Given the description of an element on the screen output the (x, y) to click on. 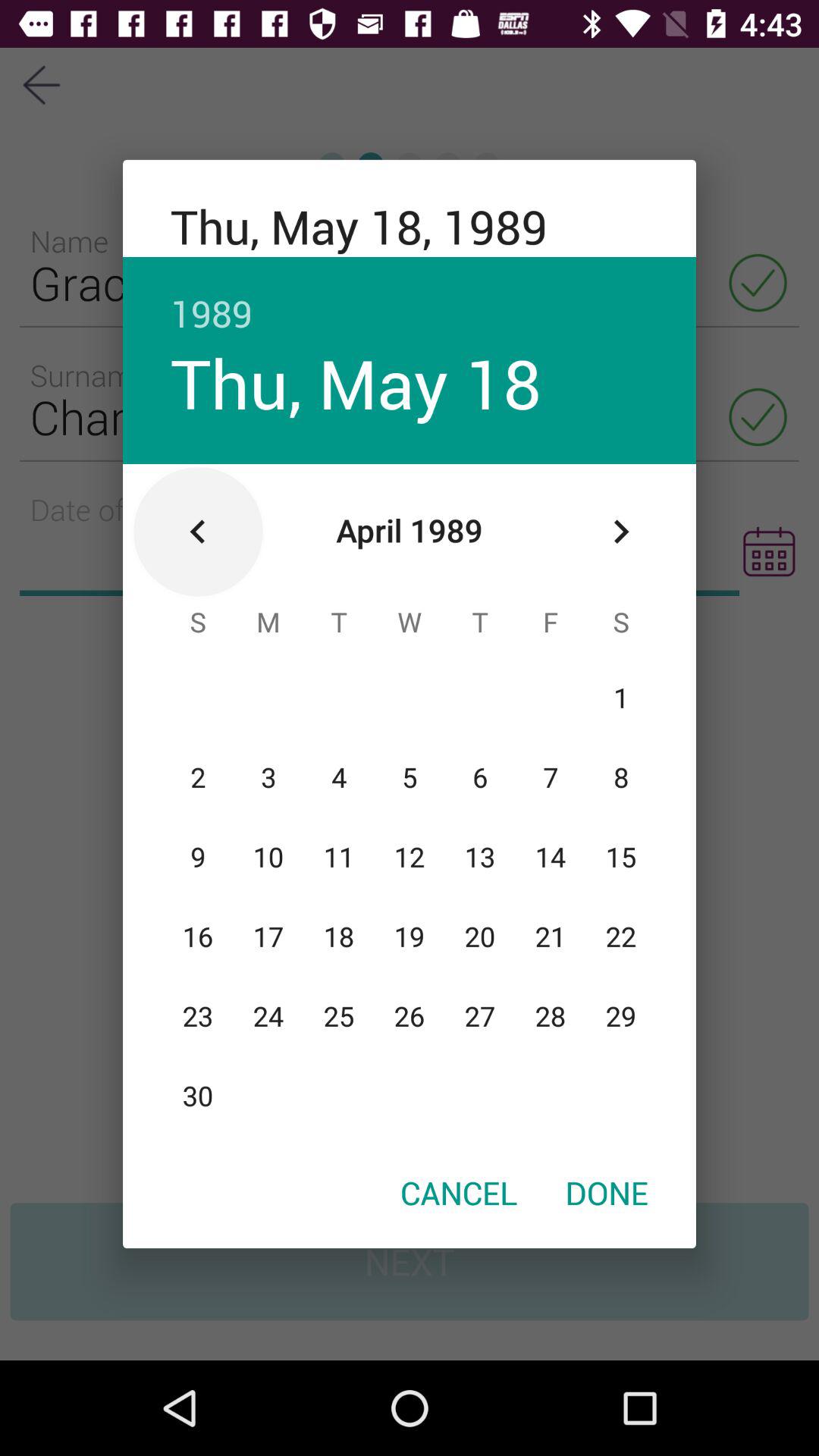
choose cancel icon (458, 1192)
